Given the description of an element on the screen output the (x, y) to click on. 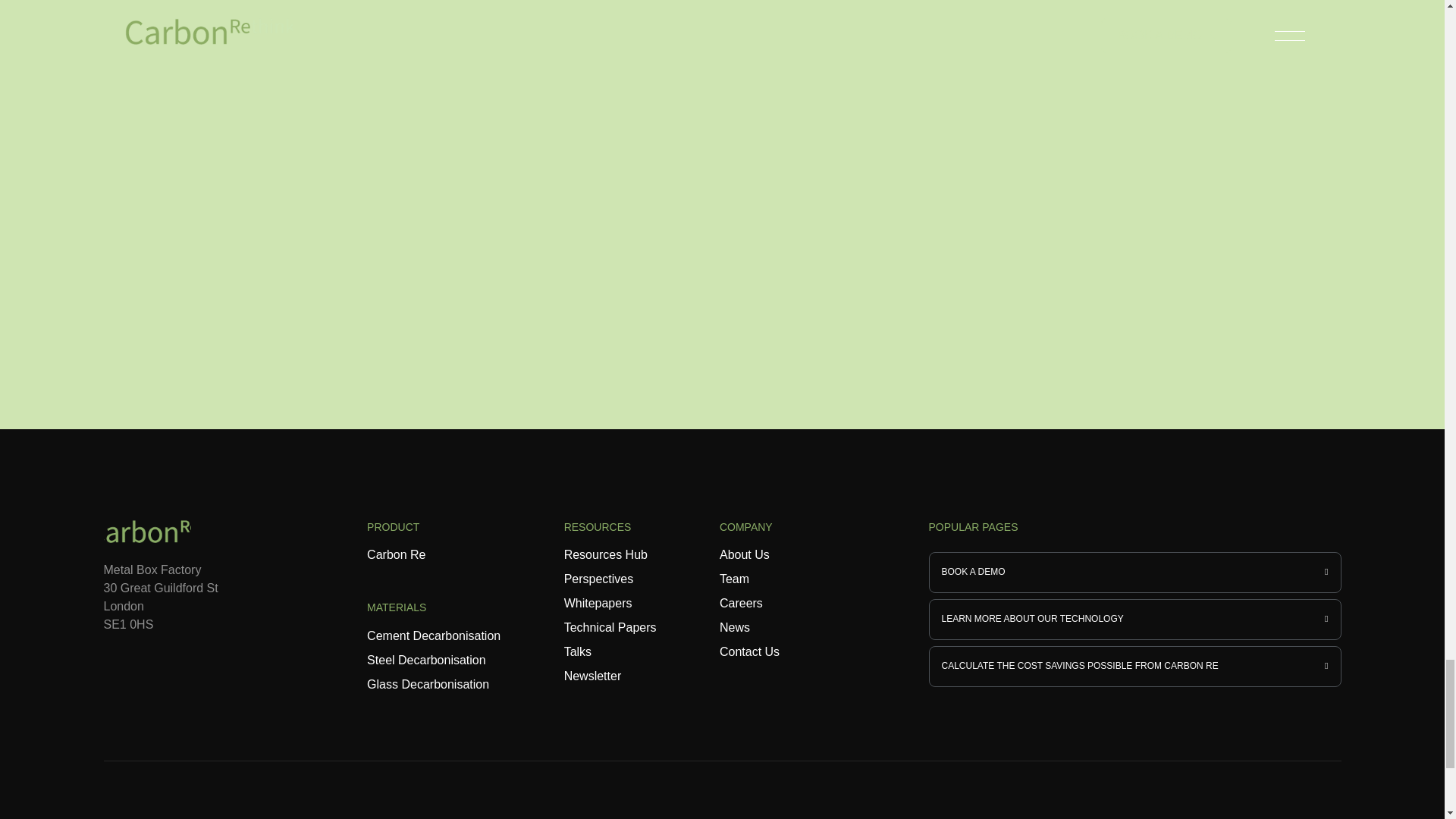
Careers (740, 603)
Technical Papers (610, 626)
PRODUCT (433, 533)
Contact Us (748, 651)
Steel Decarbonisation (426, 659)
Perspectives (598, 578)
Whitepapers (597, 603)
Talks (577, 651)
Newsletter (592, 675)
Team (734, 578)
News (734, 626)
LEARN MORE ABOUT OUR TECHNOLOGY (1134, 619)
Glass Decarbonisation (427, 684)
Resources Hub (605, 554)
About Us (744, 554)
